Given the description of an element on the screen output the (x, y) to click on. 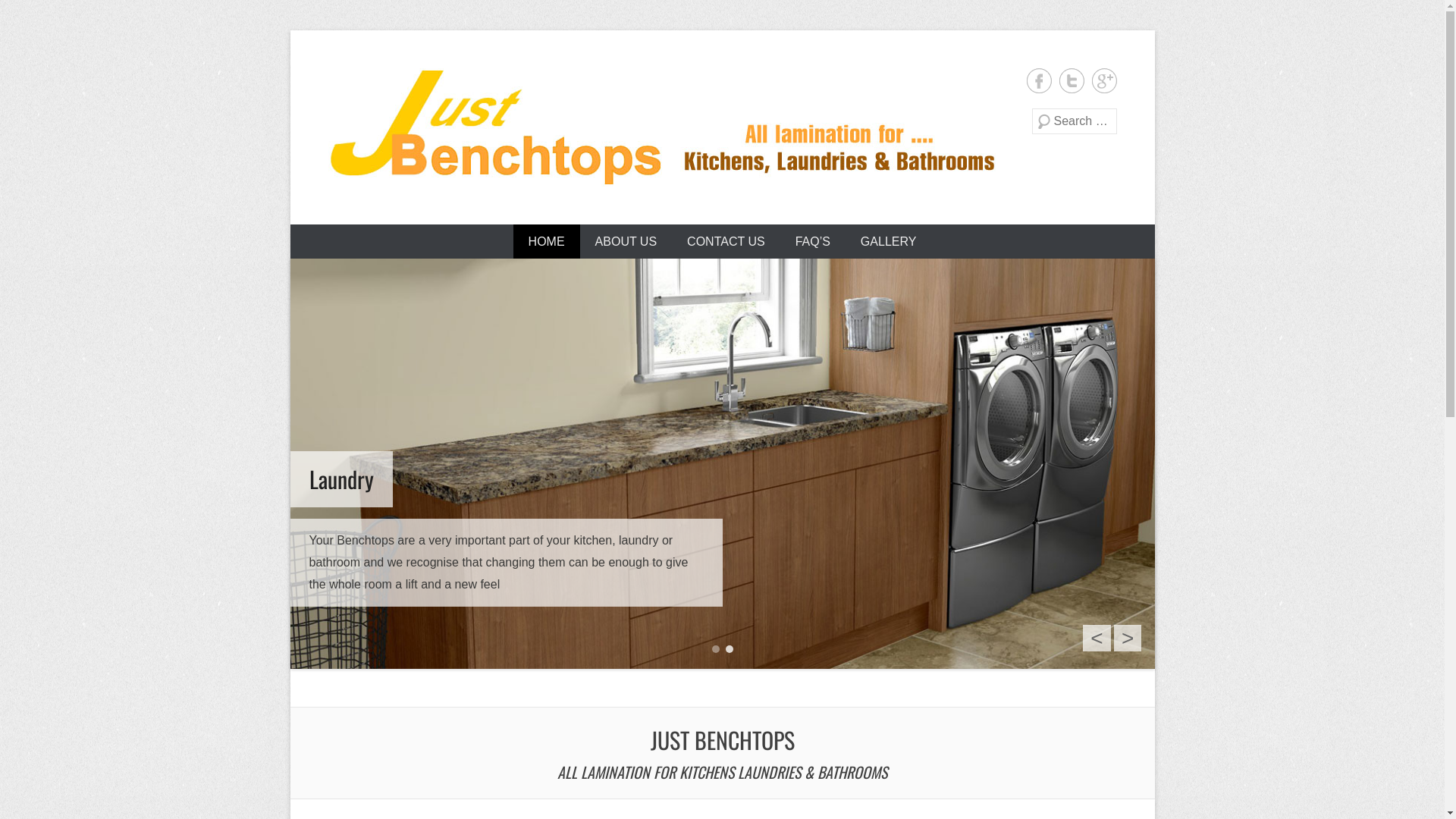
> Element type: text (1127, 637)
1 Element type: text (714, 648)
Laundry Element type: hover (721, 463)
HOME Element type: text (546, 241)
GALLERY Element type: text (888, 241)
Google+ Element type: text (1104, 80)
Facebook Element type: text (1038, 80)
CONTACT US Element type: text (725, 241)
ABOUT US Element type: text (626, 241)
Skip to content Element type: text (329, 234)
Just Benchtops Element type: hover (661, 127)
Just Benchtops Element type: text (442, 213)
< Element type: text (1096, 637)
Search Element type: text (32, 15)
2 Element type: text (728, 648)
Twitter Element type: text (1070, 80)
